Given the description of an element on the screen output the (x, y) to click on. 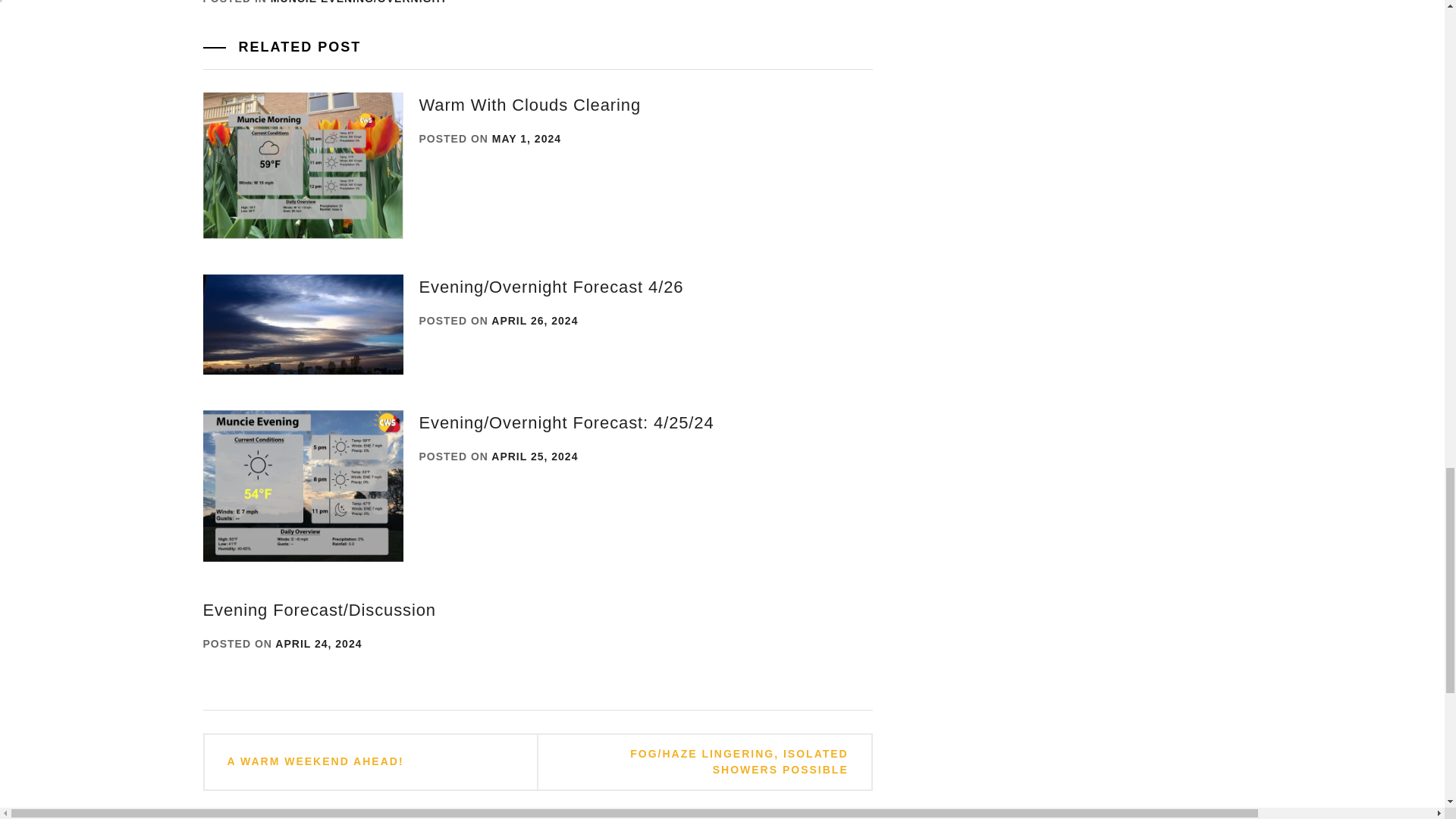
Warm With Clouds Clearing (529, 104)
MAY 1, 2024 (526, 138)
APRIL 25, 2024 (535, 456)
APRIL 24, 2024 (318, 644)
APRIL 26, 2024 (535, 320)
A WARM WEEKEND AHEAD! (314, 761)
